Given the description of an element on the screen output the (x, y) to click on. 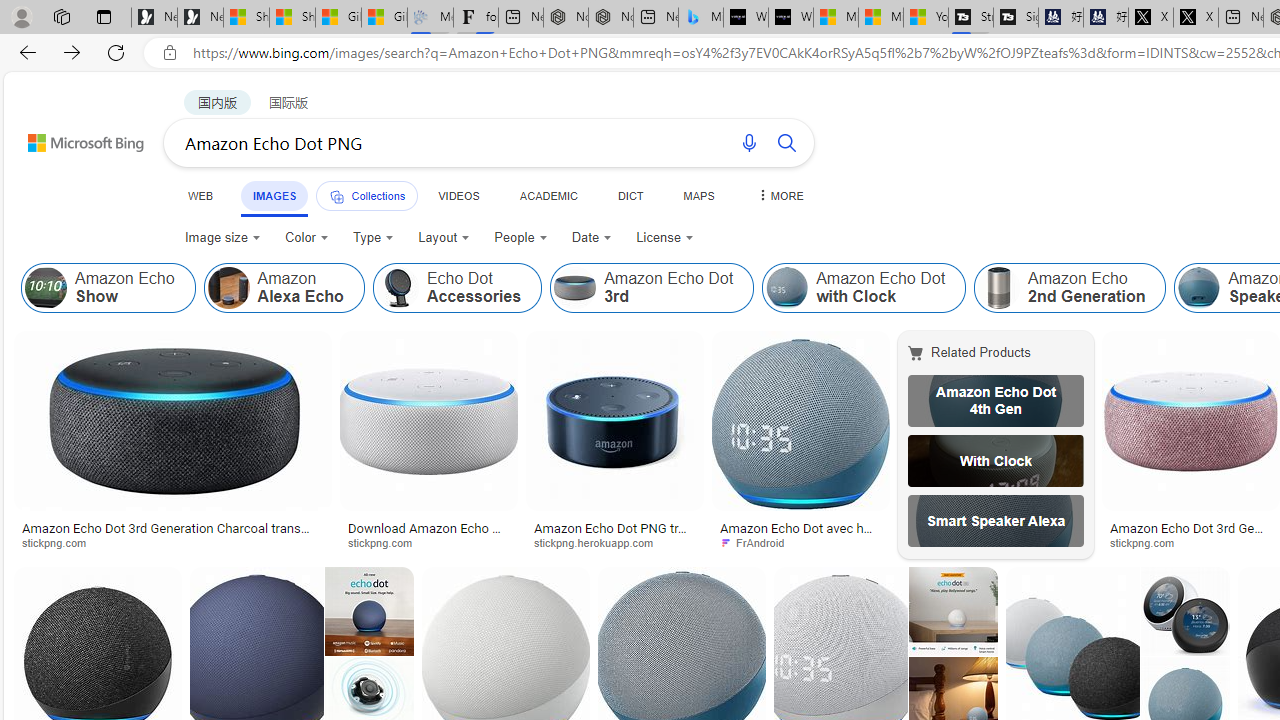
WEB (201, 195)
Amazon Echo Dot PNG transparente - StickPNG (615, 534)
IMAGES (274, 196)
FrAndroid (758, 541)
Layout (443, 237)
Echo Dot Accessories (397, 287)
Echo Dot with Clock (995, 460)
Back to Bing search (73, 138)
DICT (630, 195)
Smart Speaker Alexa (995, 521)
